Given the description of an element on the screen output the (x, y) to click on. 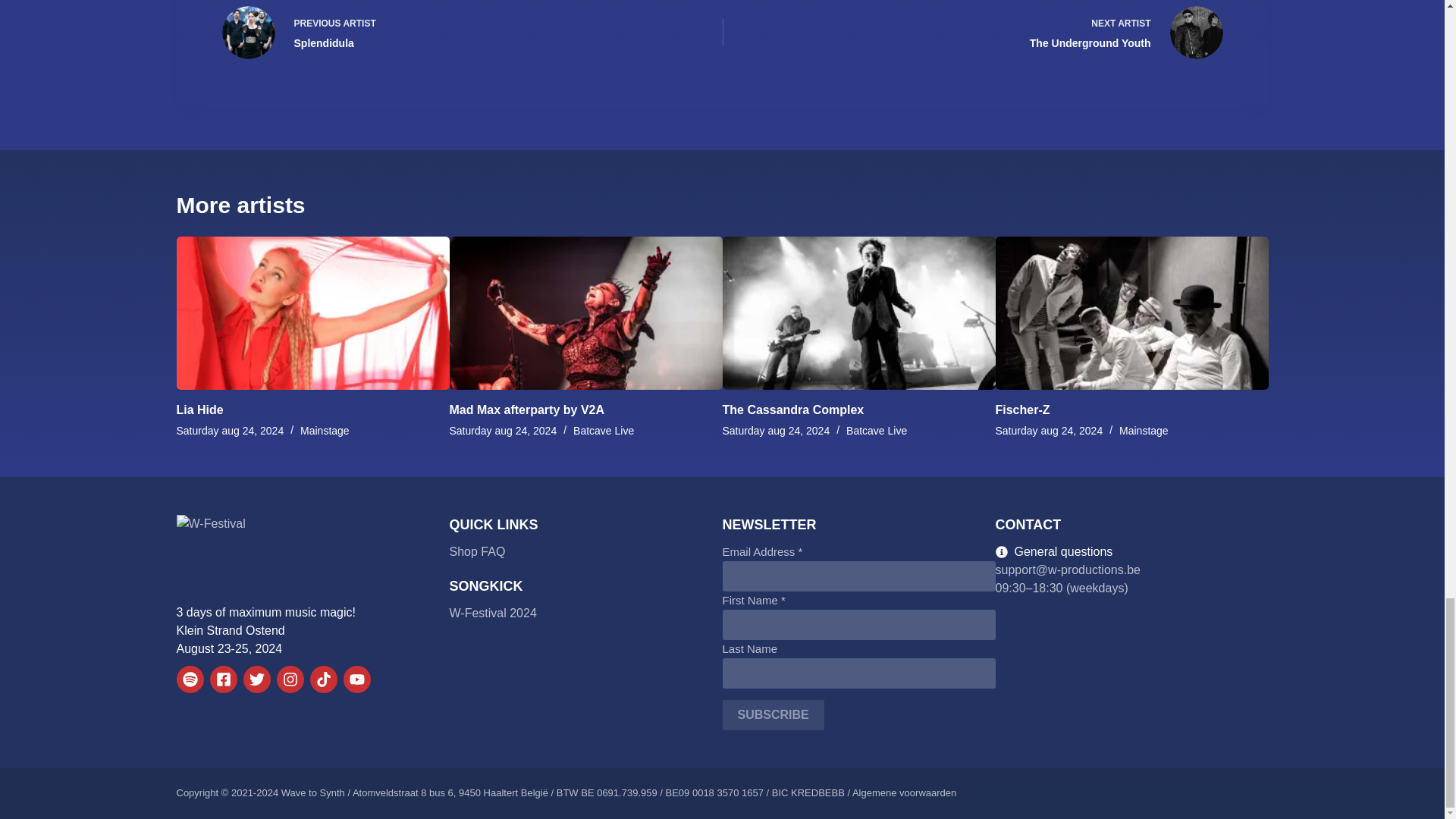
Subscribe (773, 715)
